Given the description of an element on the screen output the (x, y) to click on. 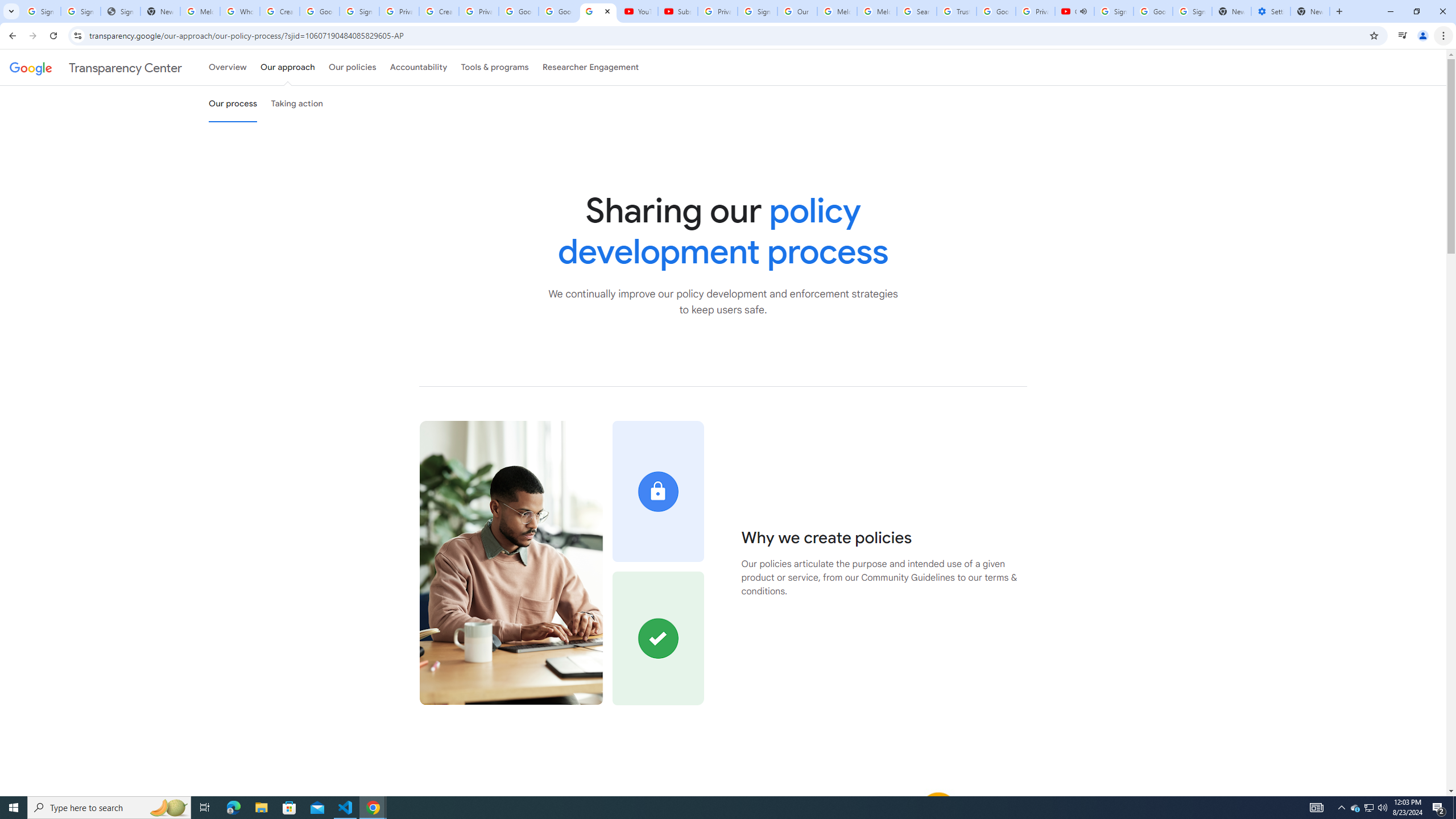
Our approach (287, 67)
